Given the description of an element on the screen output the (x, y) to click on. 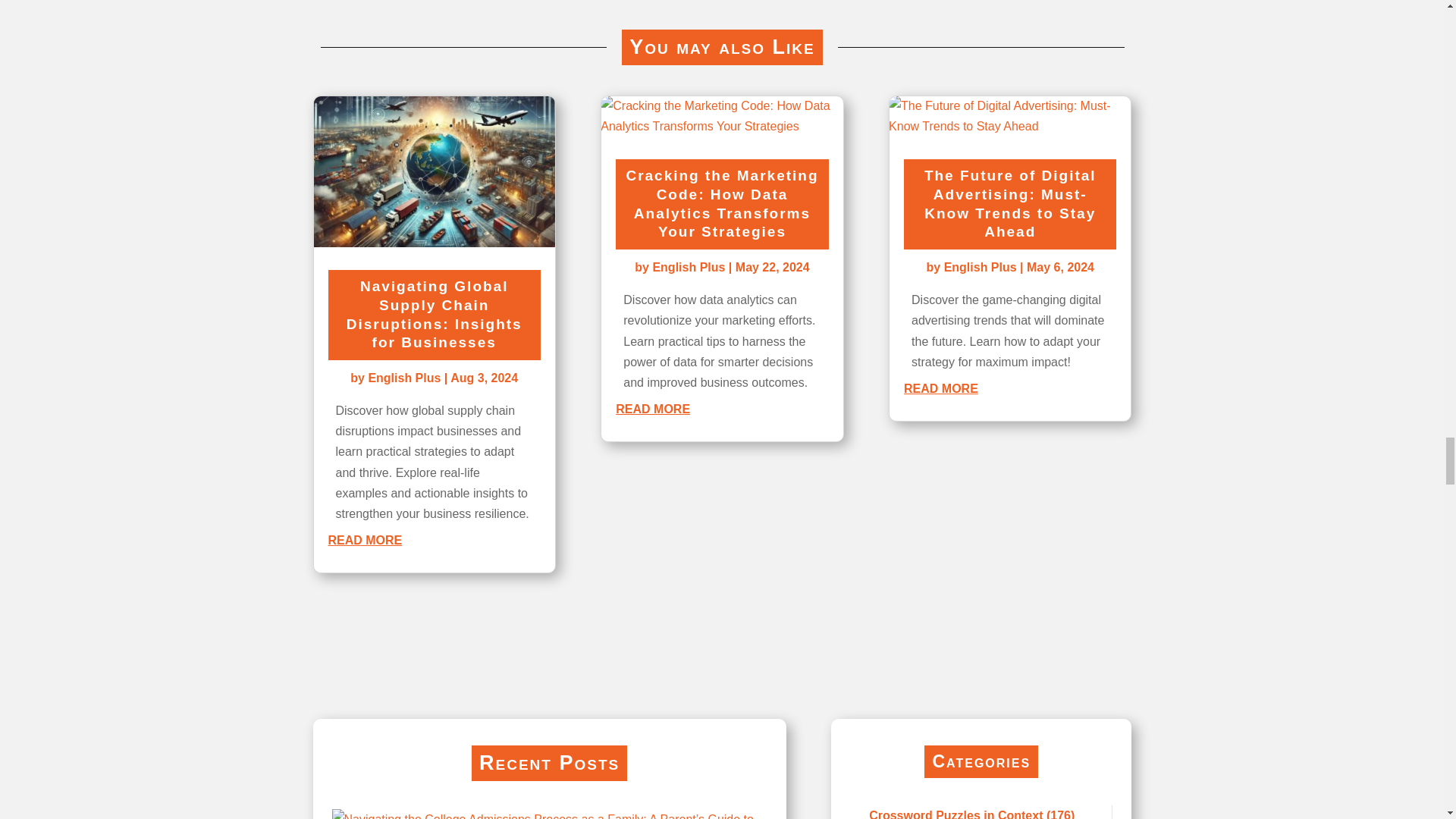
Posts by English Plus (979, 267)
Posts by English Plus (404, 377)
Posts by English Plus (688, 267)
